Given the description of an element on the screen output the (x, y) to click on. 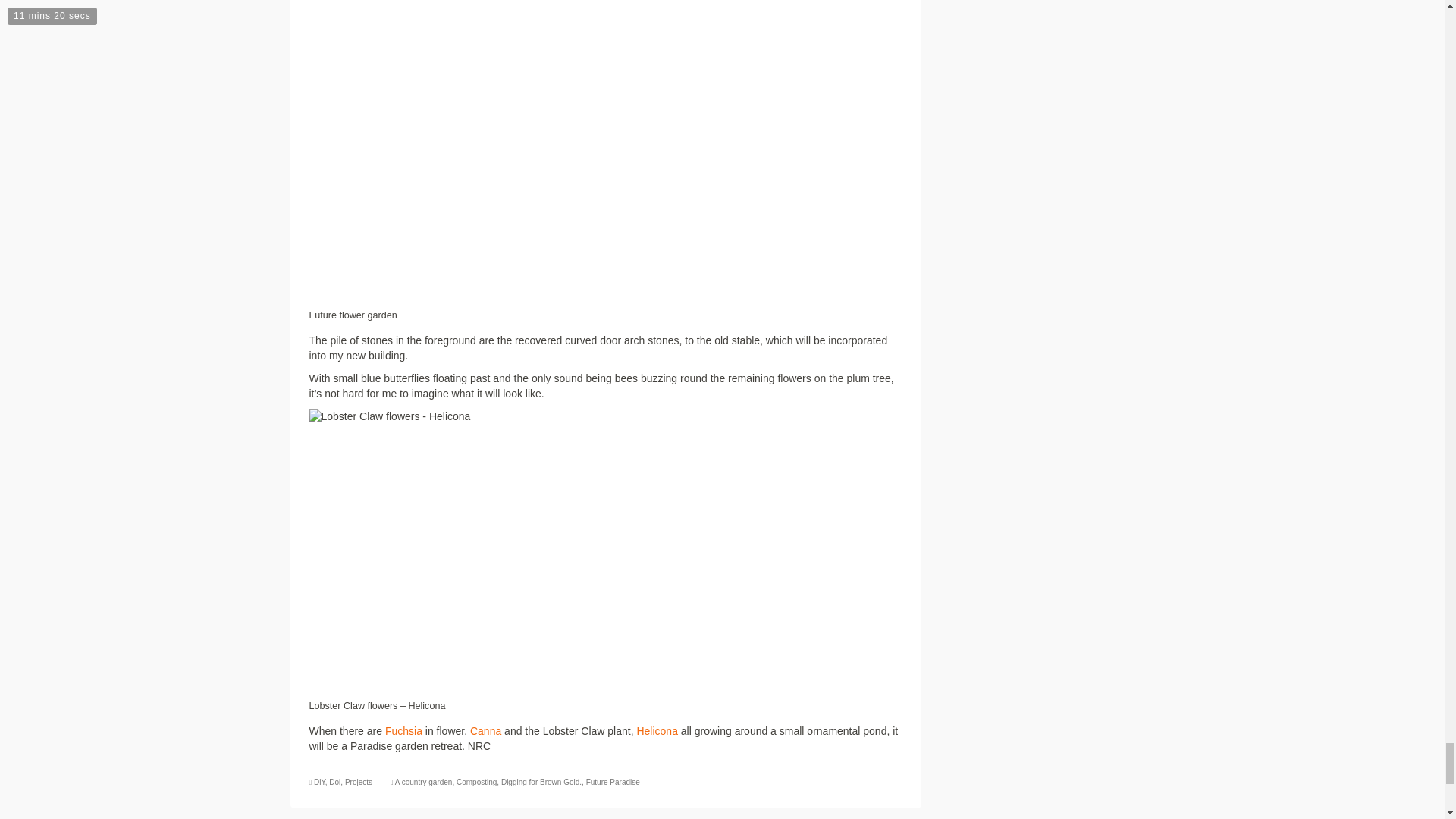
Projects (358, 782)
Composting (476, 782)
DiY (319, 782)
Digging for Brown Gold. (540, 782)
Future Paradise (613, 782)
Dol (334, 782)
A country garden (423, 782)
Helicona (656, 730)
Canna (485, 730)
Fuchsia (403, 730)
